Given the description of an element on the screen output the (x, y) to click on. 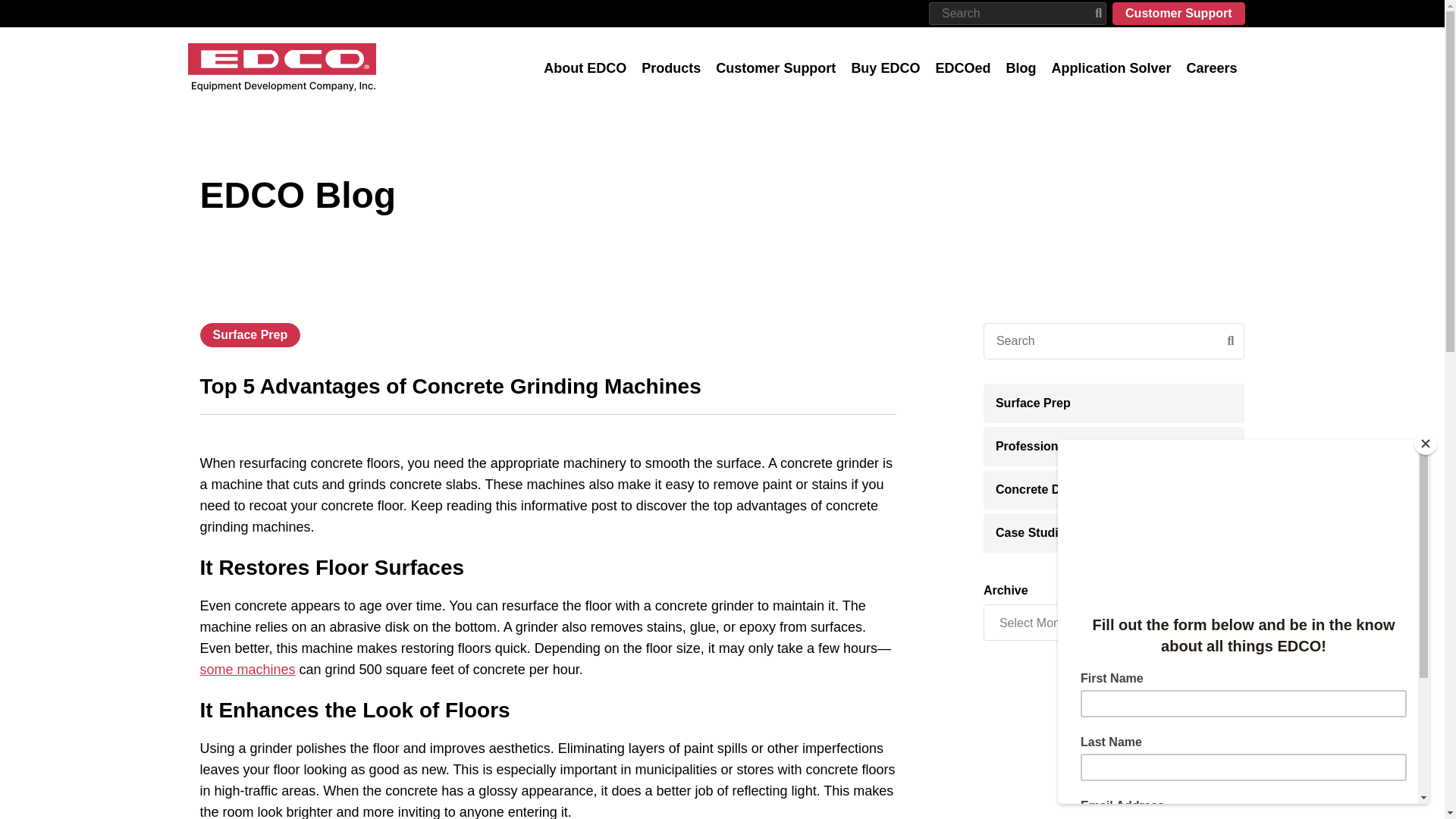
Surface Prep (1114, 403)
Customer Support (1178, 13)
Professional Sawing Equipment (1114, 446)
Customer Support (775, 68)
Products (670, 68)
Careers (1210, 68)
About EDCO (584, 68)
Surface Prep (250, 334)
some machines (247, 669)
Application Solver (1110, 68)
